Given the description of an element on the screen output the (x, y) to click on. 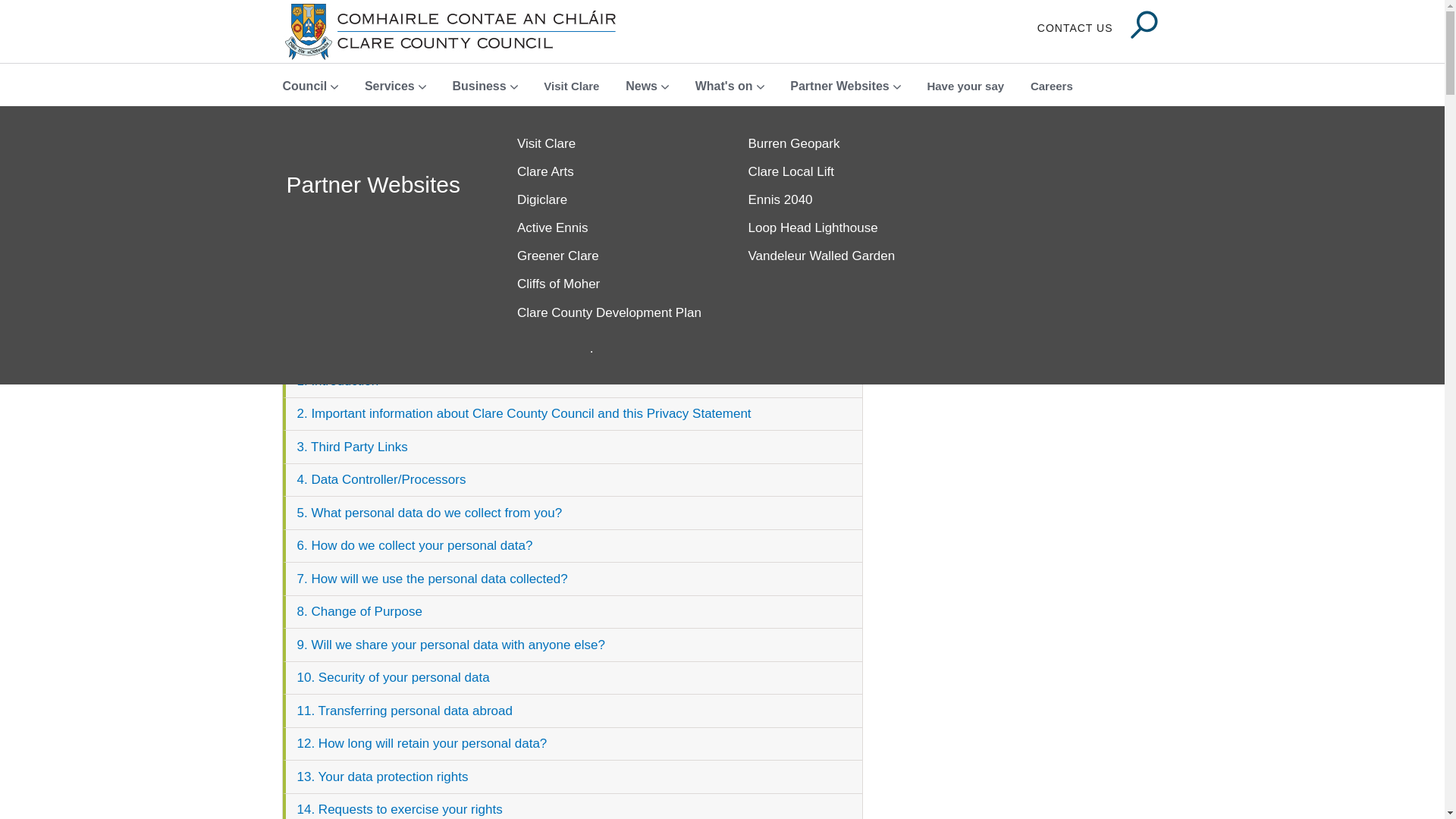
Social Inclusion and Accessibility (841, 228)
Governance and compliance (609, 312)
Careers in the Council (609, 228)
Governance and compliance (609, 312)
Customer services (609, 172)
Social Inclusion and Accessibility (841, 228)
Property management (841, 329)
Planning, heritage and conservation (841, 293)
Publication Scheme (841, 200)
Customer services (609, 172)
